Given the description of an element on the screen output the (x, y) to click on. 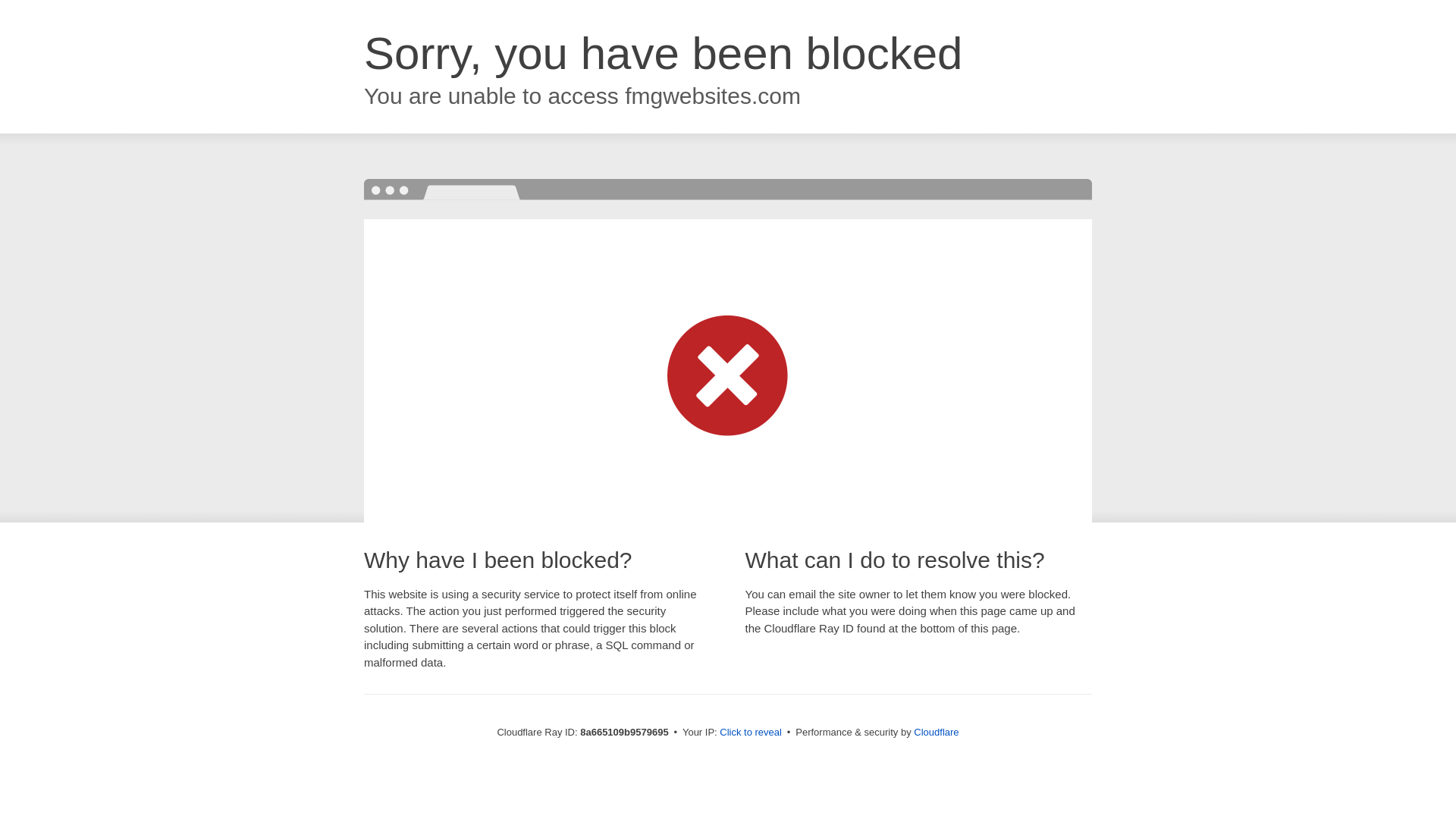
Cloudflare (936, 731)
Click to reveal (750, 732)
